Given the description of an element on the screen output the (x, y) to click on. 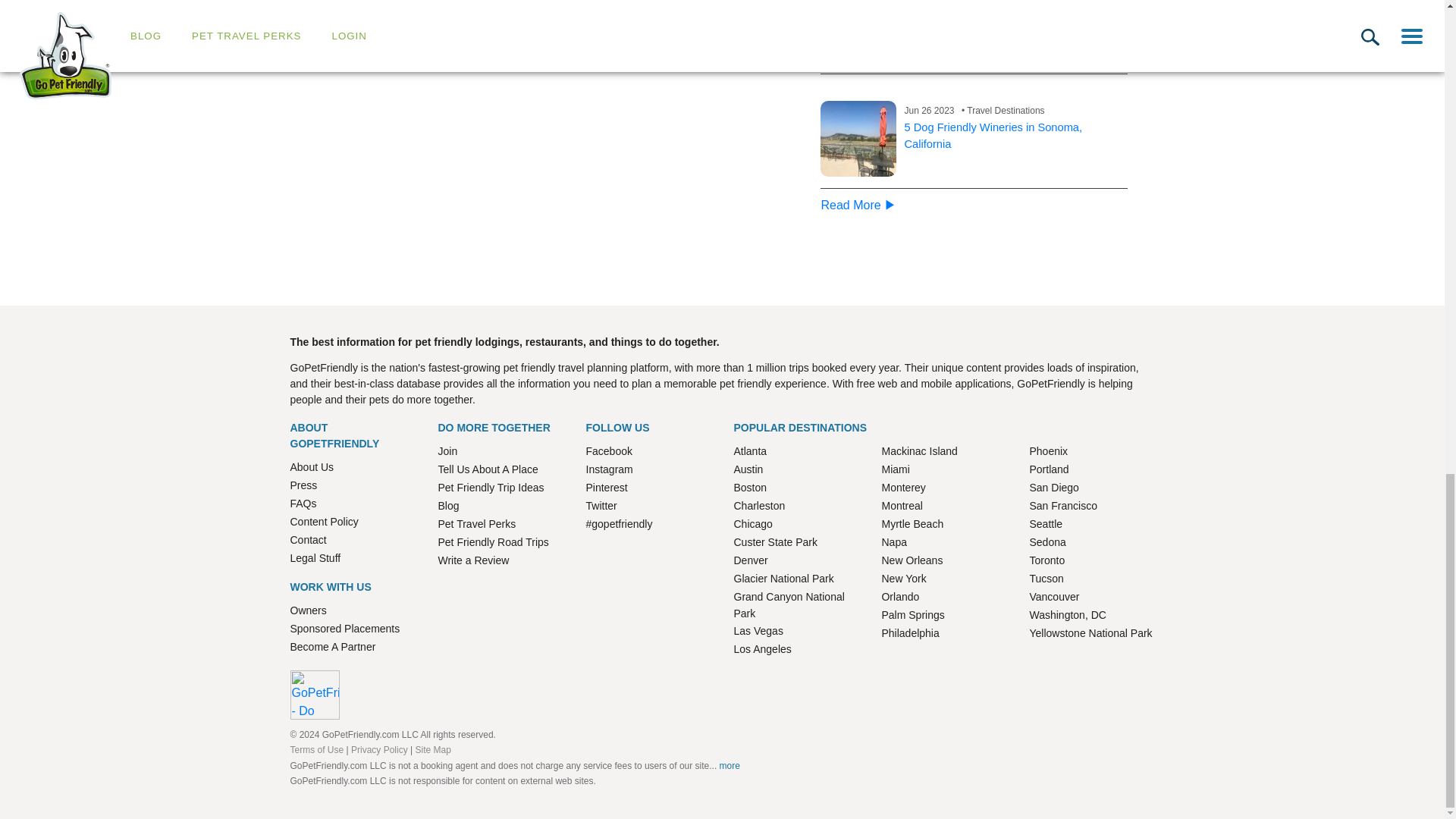
Wine Country: For the Dogs (973, 12)
Wine Country: For the Dogs (858, 31)
5 Dog Friendly Wineries in Sonoma, California (858, 138)
5 Dog Friendly Wineries in Sonoma, California (992, 135)
